Given the description of an element on the screen output the (x, y) to click on. 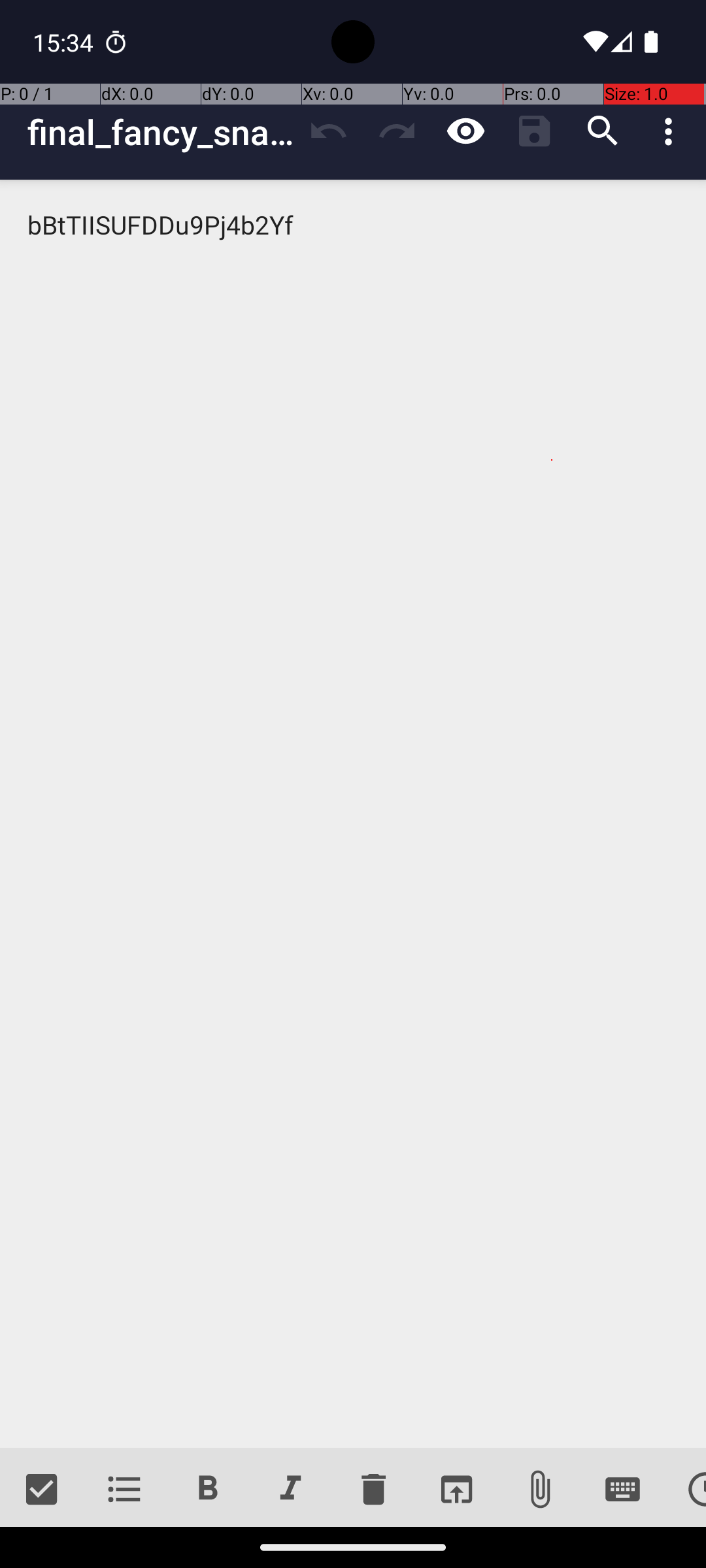
final_fancy_snake Element type: android.widget.TextView (160, 131)
bBtTIISUFDDu9Pj4b2Yf
 Element type: android.widget.EditText (353, 813)
